Given the description of an element on the screen output the (x, y) to click on. 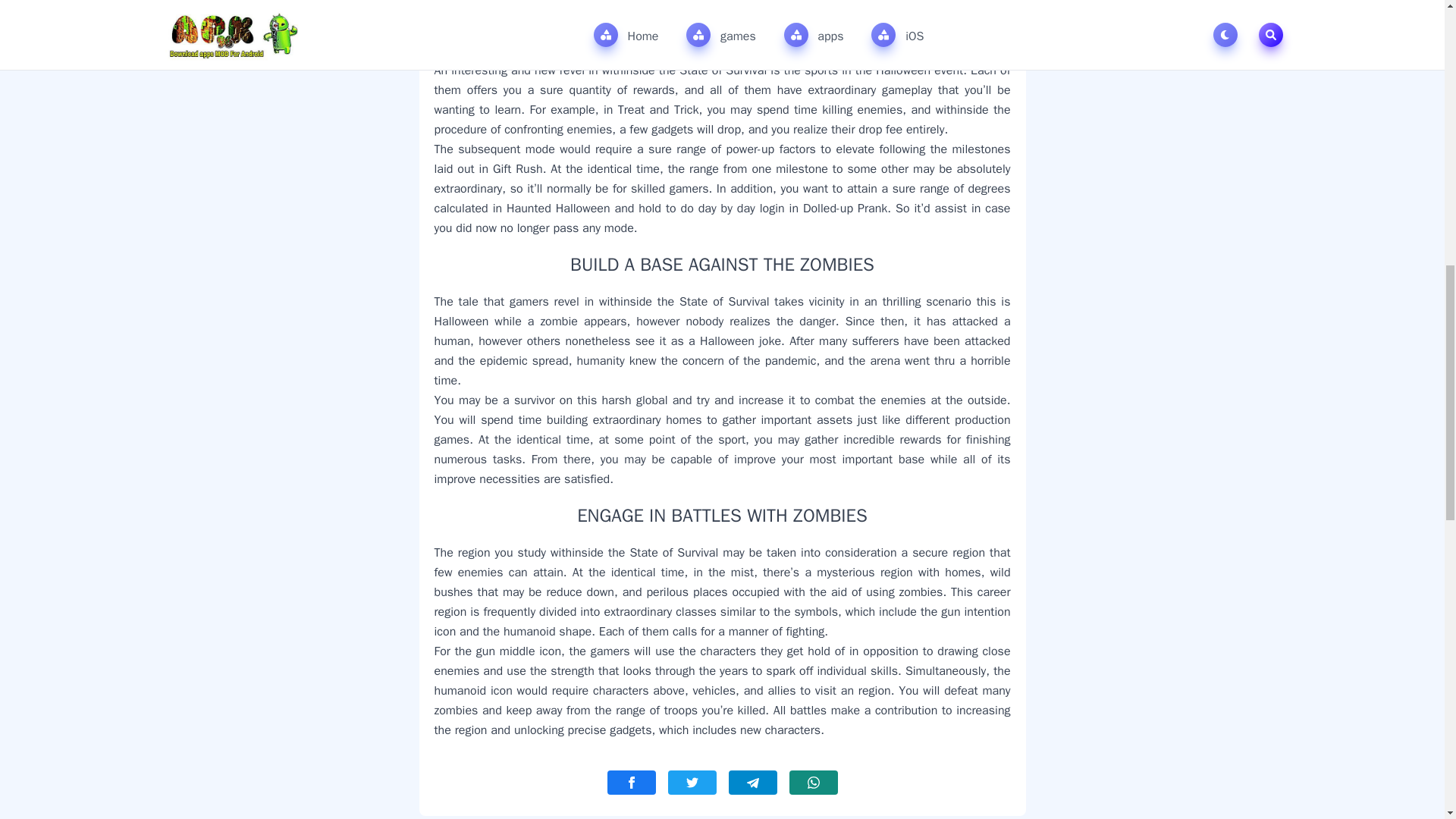
Share on Telegram (752, 782)
Share on WhatsApp (813, 782)
Share on Twitter (691, 782)
Share on Facebook (631, 782)
